Given the description of an element on the screen output the (x, y) to click on. 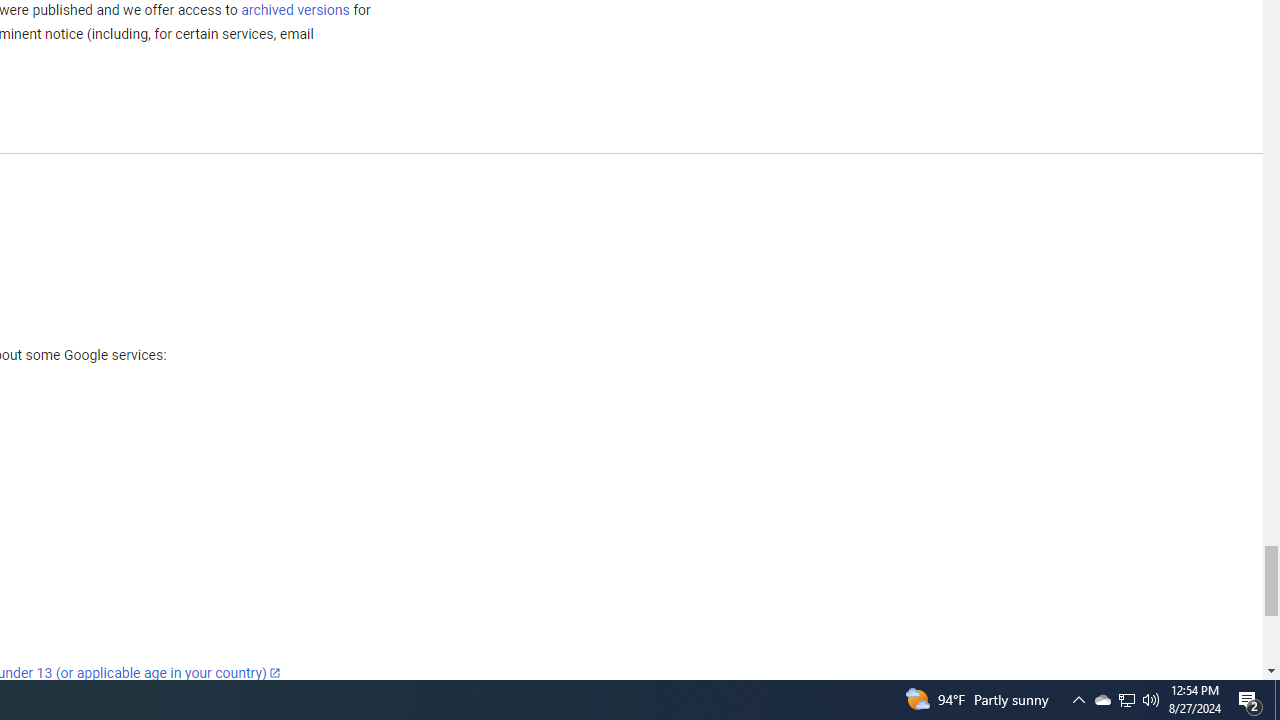
archived versions (294, 9)
